Given the description of an element on the screen output the (x, y) to click on. 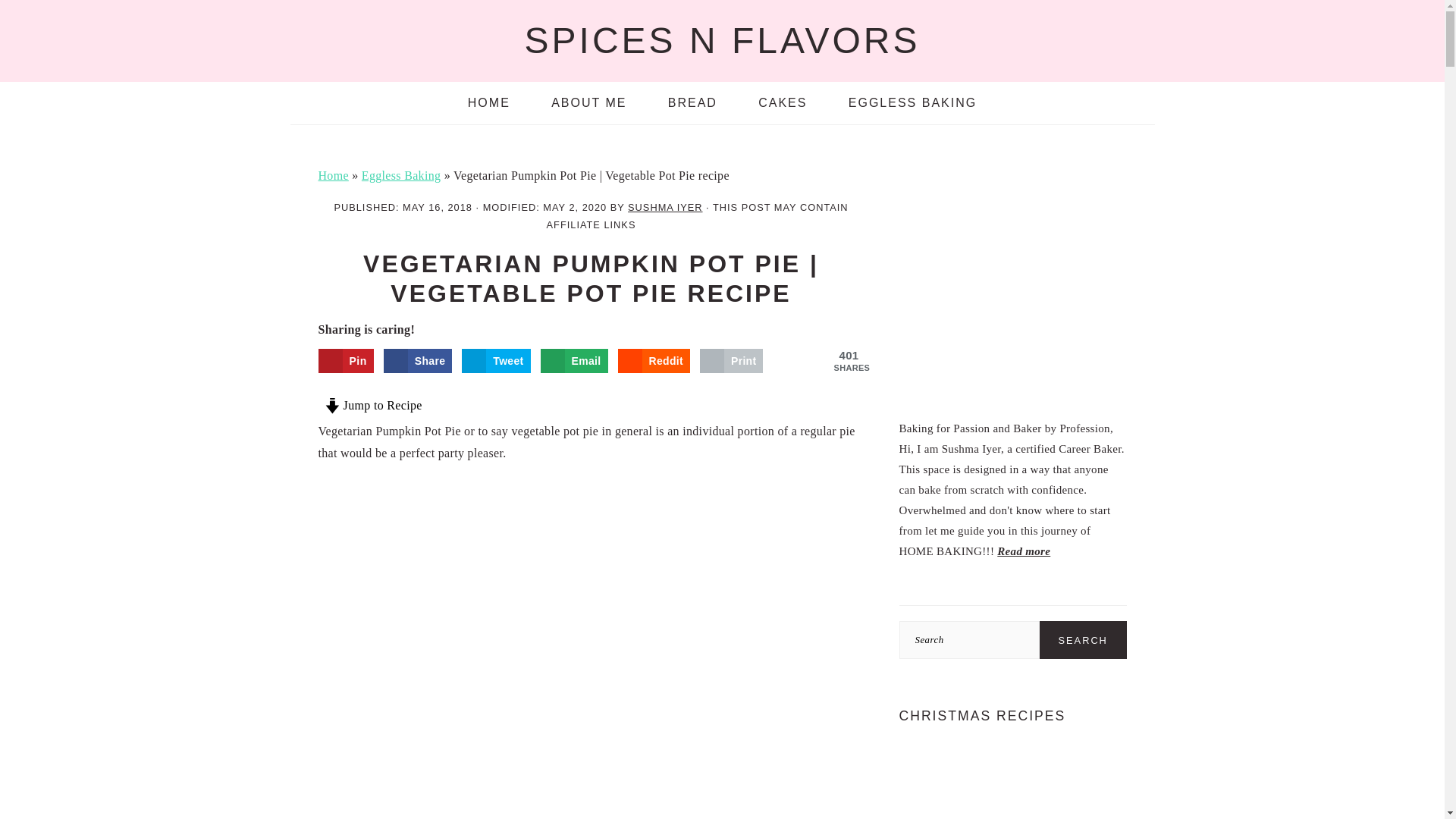
Pin (346, 360)
Jump to Recipe (373, 404)
Eggless Baking (401, 174)
Save to Pinterest (346, 360)
Print this webpage (731, 360)
Search (1082, 639)
BREAD (692, 102)
Email (574, 360)
Share on Twitter (495, 360)
SPICES N FLAVORS (722, 40)
Share (418, 360)
Send over email (574, 360)
EGGLESS BAKING (912, 102)
ABOUT ME (588, 102)
